Given the description of an element on the screen output the (x, y) to click on. 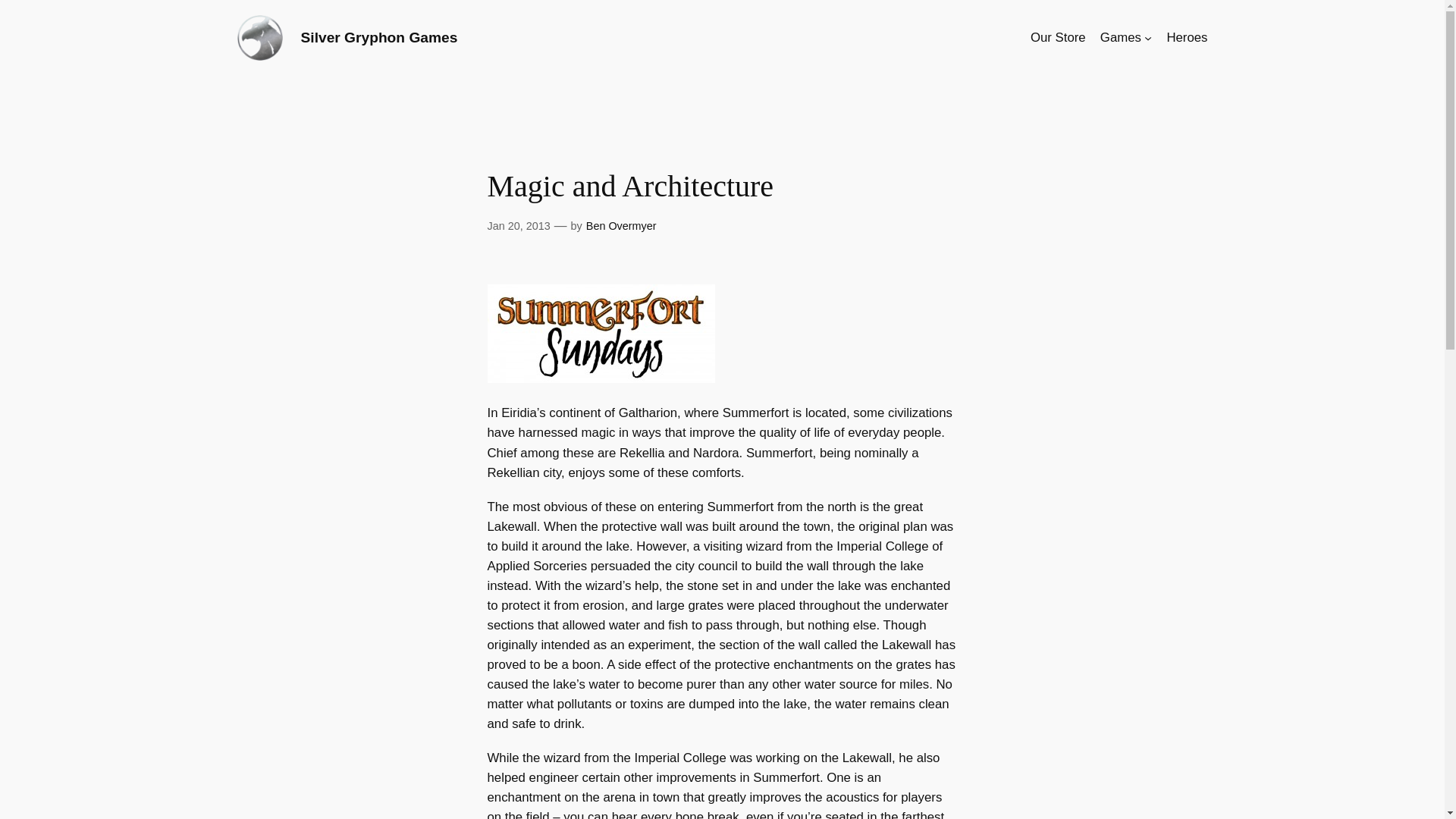
Silver Gryphon Games (378, 37)
Summerfort Sunday Logo (600, 333)
Our Store (1058, 37)
Games (1120, 37)
Ben Overmyer (621, 225)
Heroes (1186, 37)
Jan 20, 2013 (518, 225)
